Given the description of an element on the screen output the (x, y) to click on. 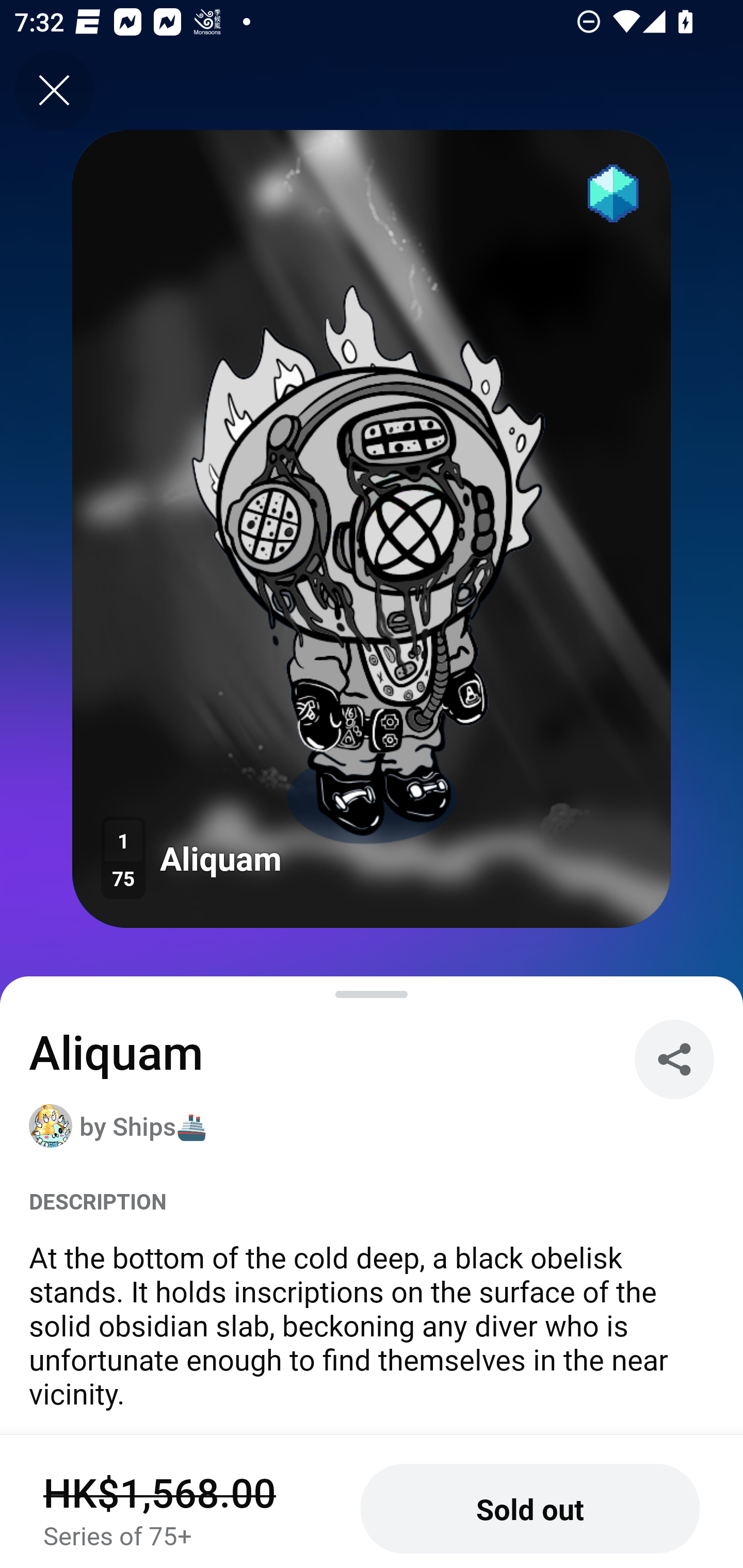
Close (53, 90)
Share (674, 1059)
Custom avatar (50, 1125)
by Ships🚢 (139, 1125)
Sold out (529, 1508)
